Given the description of an element on the screen output the (x, y) to click on. 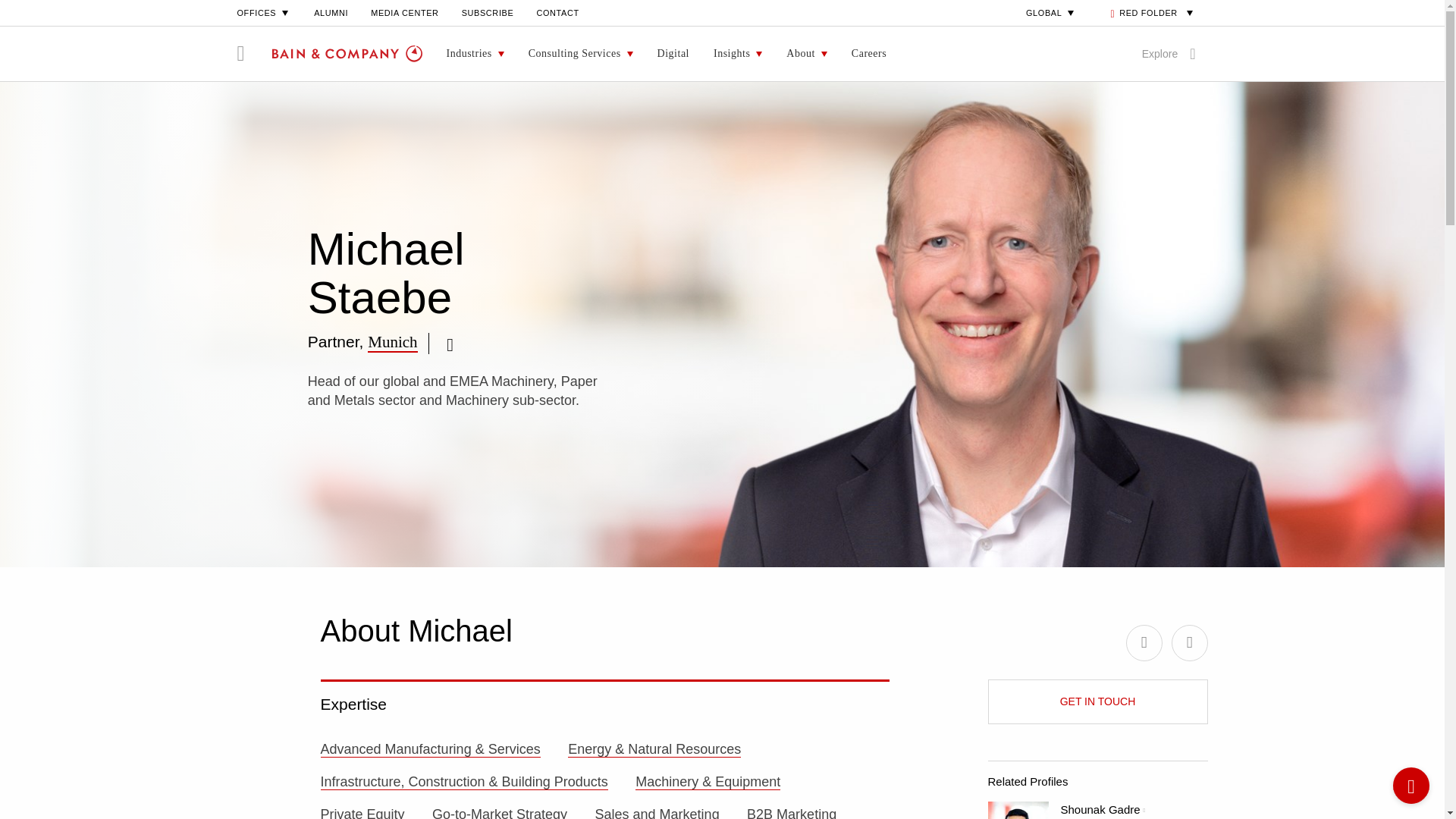
OFFICES (263, 12)
